Given the description of an element on the screen output the (x, y) to click on. 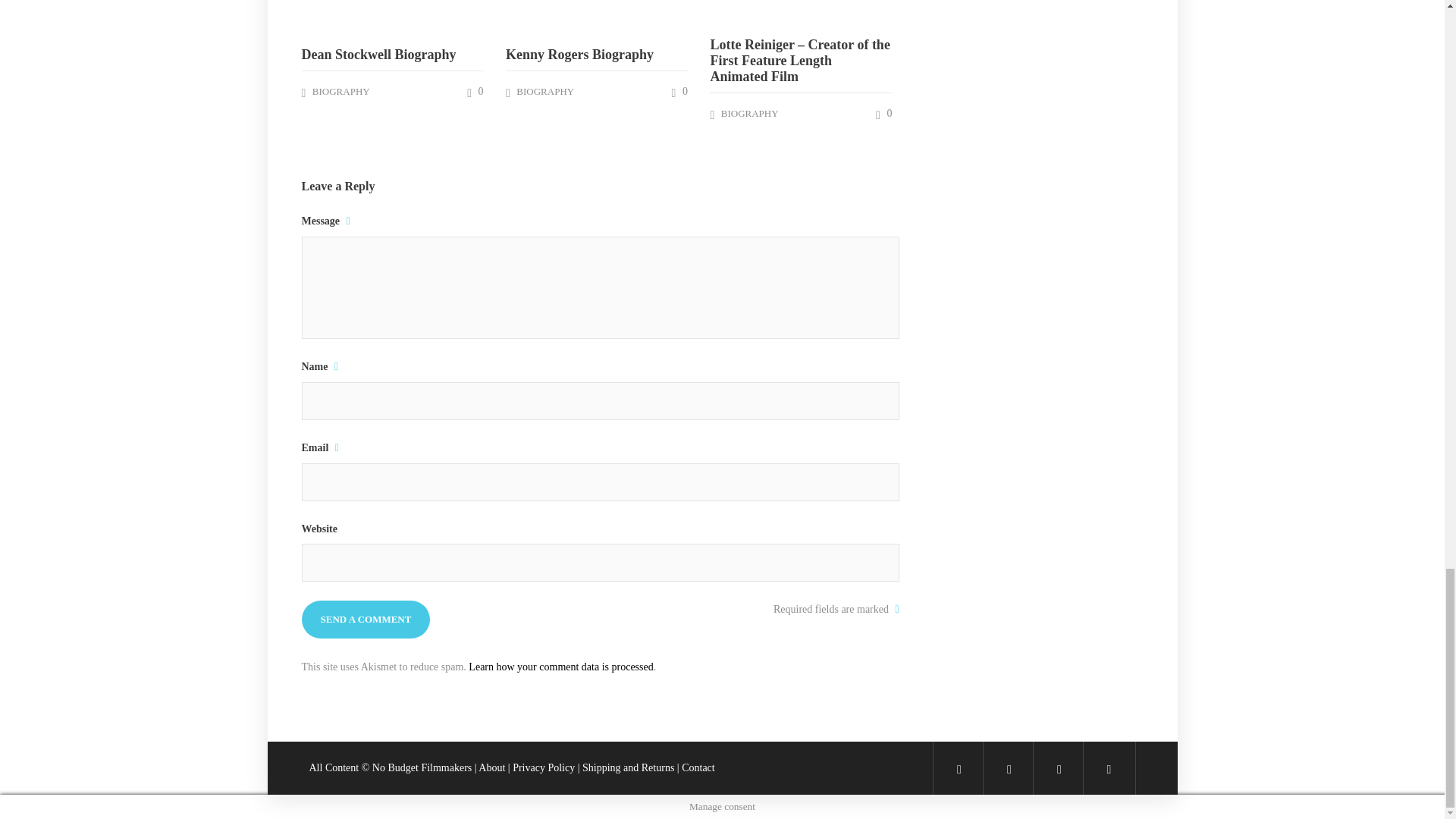
Dean Stockwell Biography (392, 54)
BIOGRAPHY (341, 91)
Kenny Rogers Biography (596, 54)
BIOGRAPHY (544, 91)
Send a comment (365, 619)
